Given the description of an element on the screen output the (x, y) to click on. 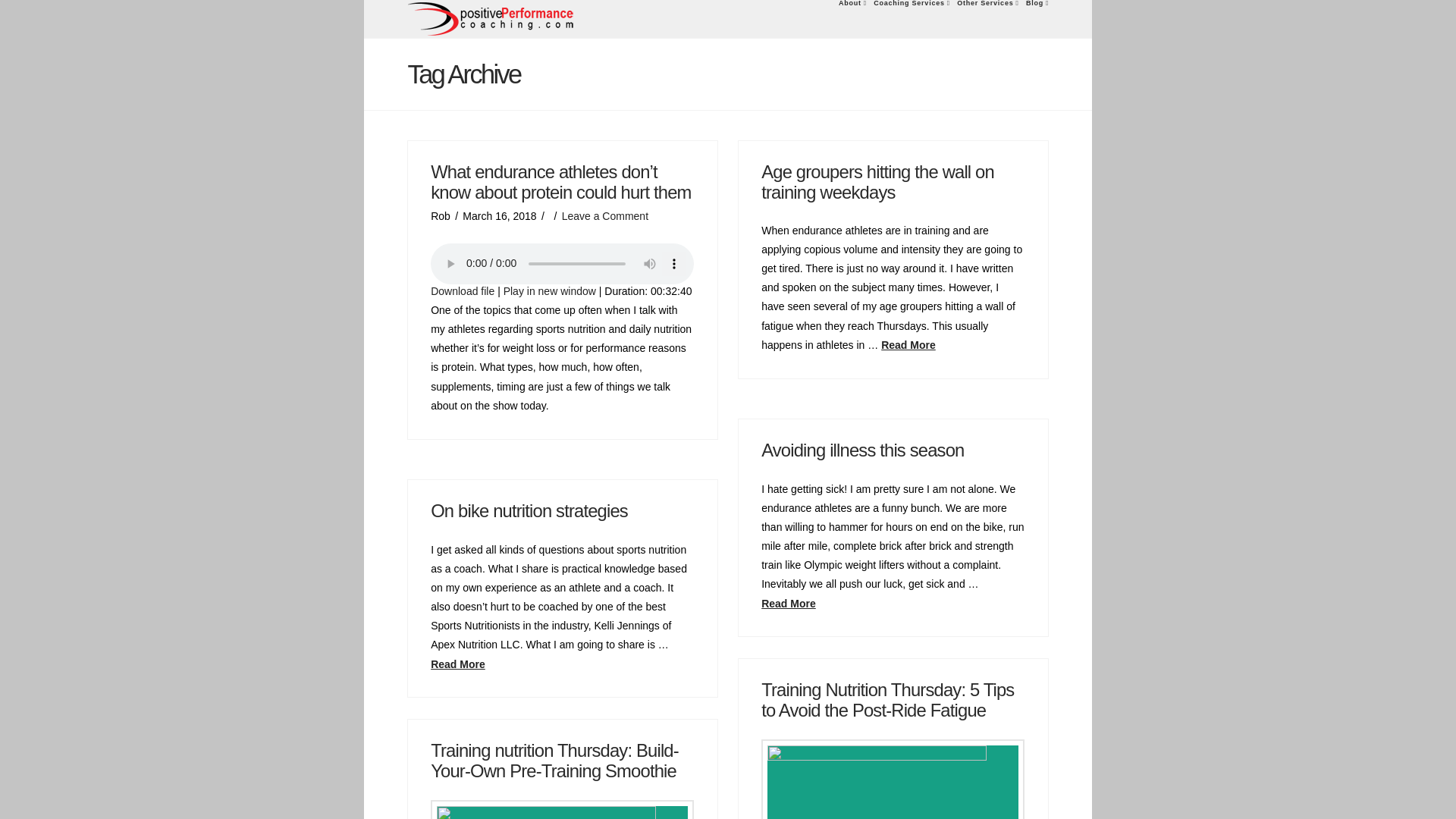
Permalink to: "On bike nutrition strategies" (528, 510)
Coaching Services (911, 18)
Permalink to: "Avoiding illness this season" (862, 449)
Coaching Services (911, 18)
About (851, 18)
Other Services (987, 18)
